Given the description of an element on the screen output the (x, y) to click on. 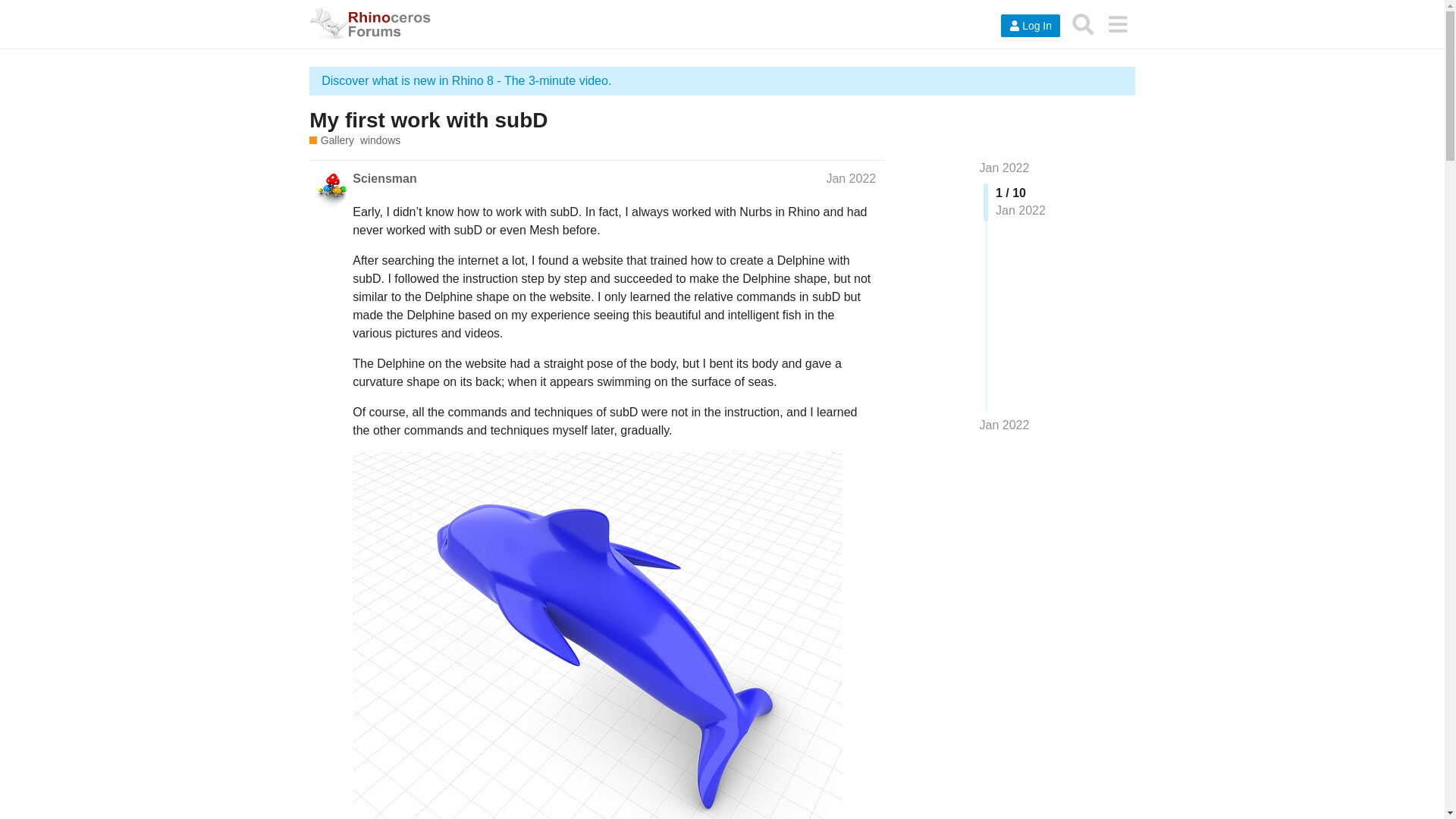
Discover what is new in Rhino 8 - The 3-minute video. (466, 80)
Jump to the first post (1004, 167)
My first work with subD (427, 119)
Log In (1030, 25)
Search (1082, 23)
Sciensman (384, 178)
windows (379, 140)
Jan 2022 (1004, 425)
Jump to the last post (1004, 424)
